Given the description of an element on the screen output the (x, y) to click on. 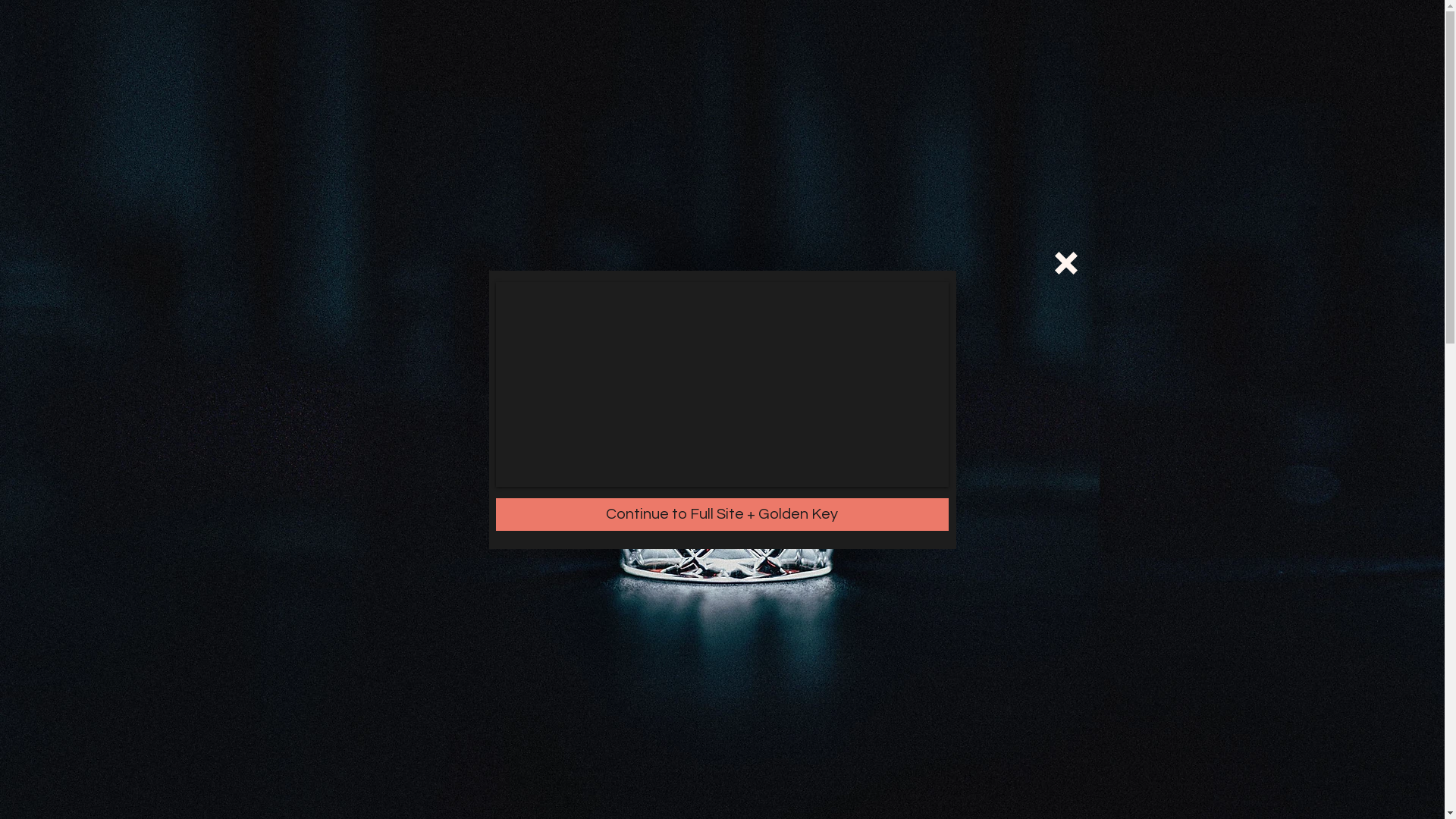
Click to Drink. Element type: text (983, 717)
Back to site Element type: hover (1065, 262)
Continue to Full Site + Golden Key Element type: text (721, 513)
Wisdom Element type: hover (1056, 39)
Music Element type: hover (922, 42)
WISE SERPENT CREATION Element type: text (426, 26)
Art Element type: hover (991, 40)
